Given the description of an element on the screen output the (x, y) to click on. 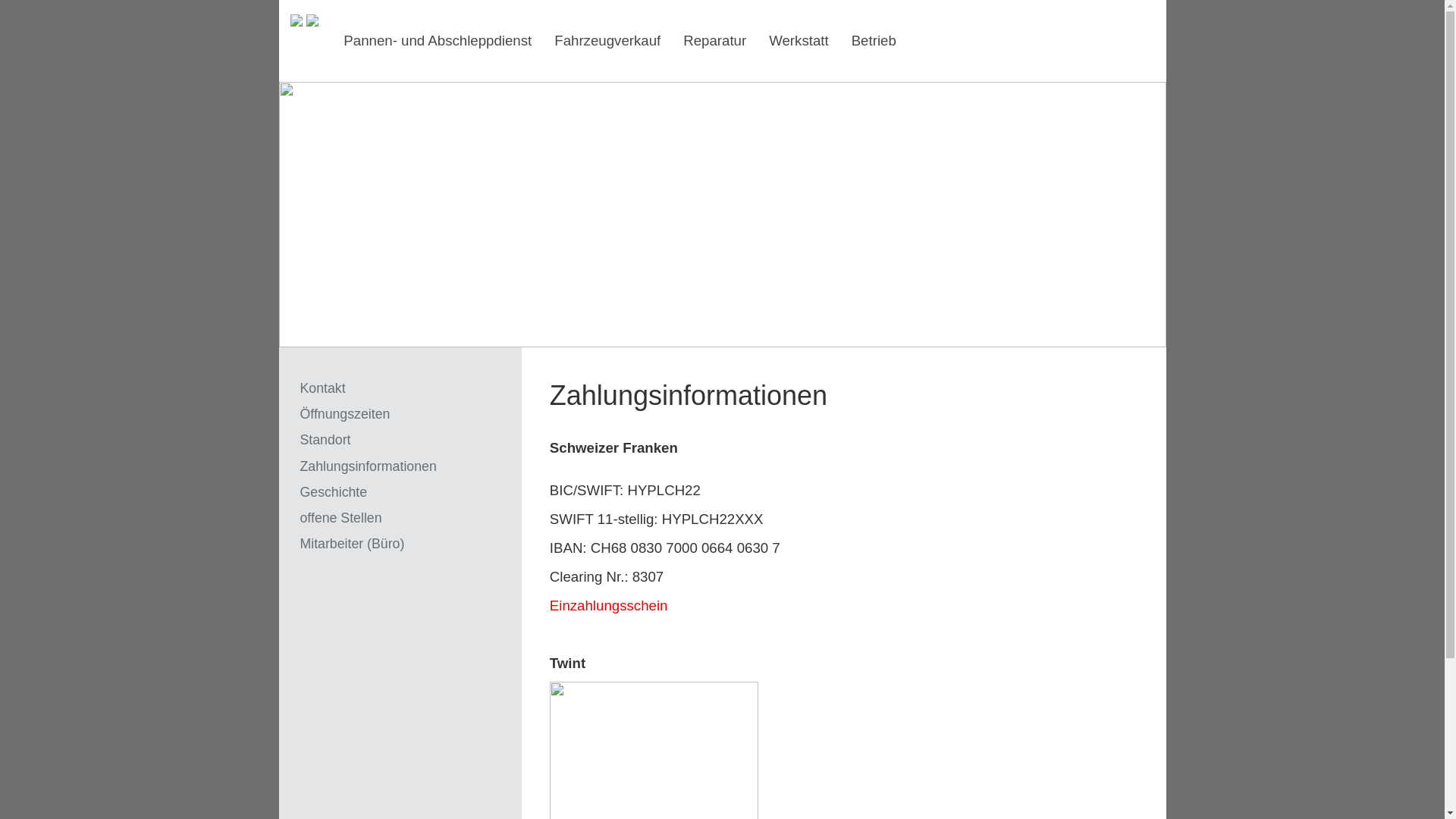
Fahrzeugverkauf Element type: text (606, 41)
offene Stellen Element type: text (341, 517)
Kontakt Element type: text (322, 387)
Betrieb Element type: text (873, 41)
Werkstatt Element type: text (798, 41)
Pannen- und Abschleppdienst Element type: text (437, 41)
Einzahlungsschein Element type: text (608, 605)
Geschichte Element type: text (333, 491)
Reparatur Element type: text (714, 41)
Zahlungsinformationen Element type: text (368, 465)
Standort Element type: text (325, 439)
